Given the description of an element on the screen output the (x, y) to click on. 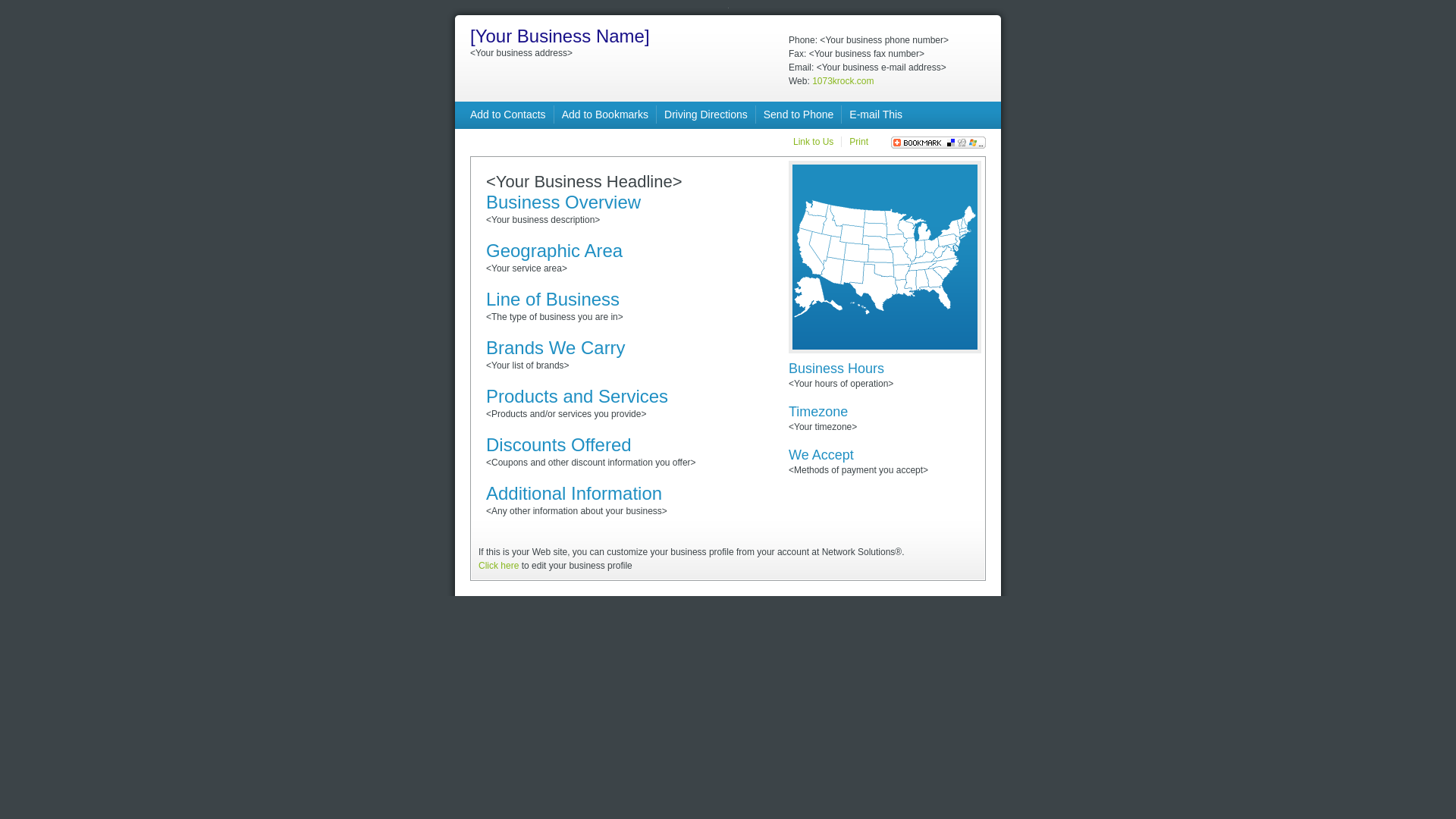
Print Element type: text (858, 141)
Send to Phone Element type: text (798, 114)
Click here Element type: text (498, 565)
Link to Us Element type: text (813, 141)
Add to Contacts Element type: text (508, 114)
Driving Directions Element type: text (705, 114)
1073krock.com Element type: text (842, 80)
E-mail This Element type: text (875, 114)
Add to Bookmarks Element type: text (604, 114)
